Given the description of an element on the screen output the (x, y) to click on. 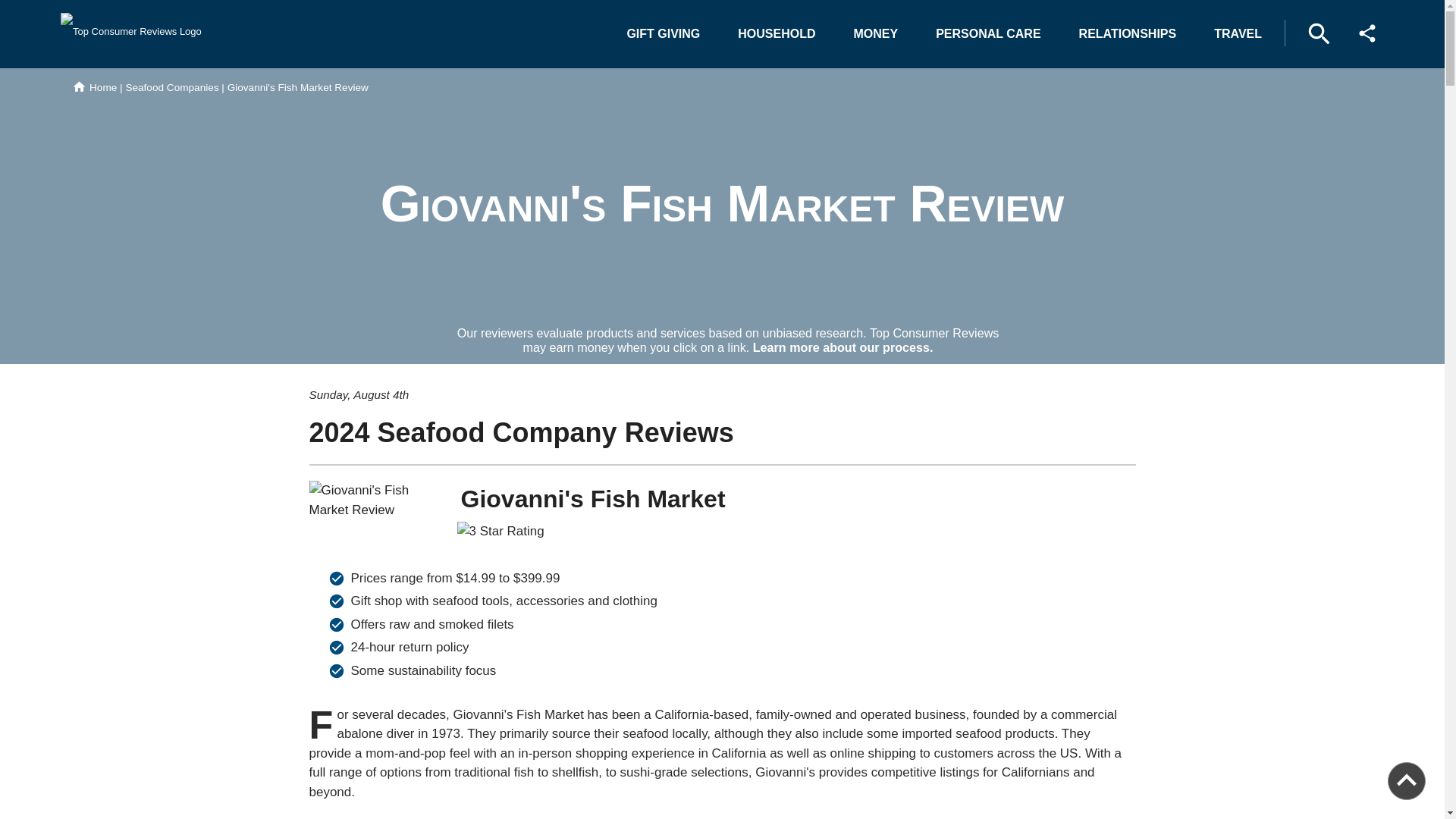
Share Top Consumer Reviews (1367, 32)
TRAVEL (1237, 33)
RELATIONSHIPS (1128, 33)
PERSONAL CARE (987, 33)
MONEY (876, 33)
GIFT GIVING (662, 33)
Search Top Consumer Reviews (1318, 33)
HOUSEHOLD (775, 33)
